Given the description of an element on the screen output the (x, y) to click on. 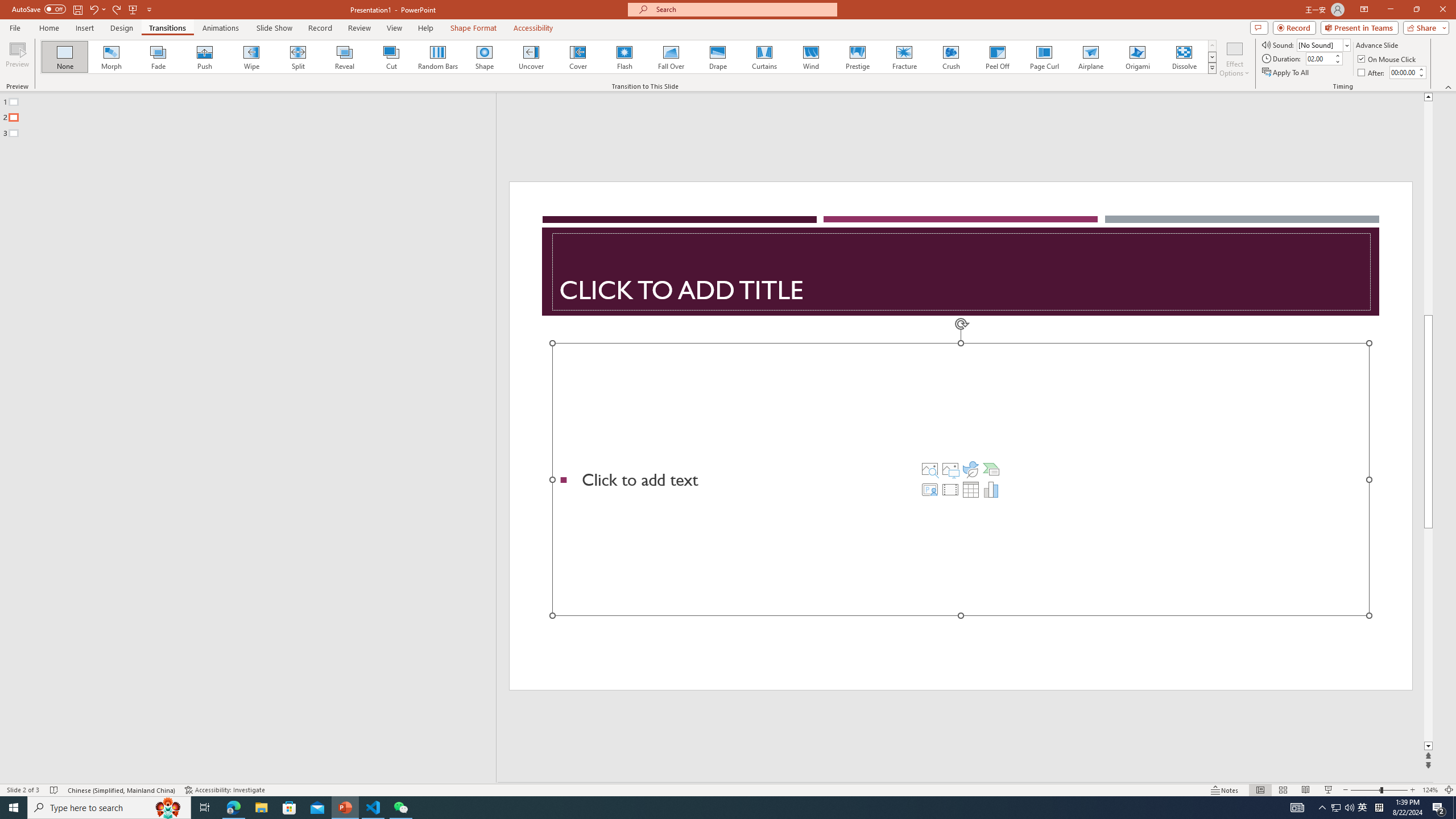
Curtains (764, 56)
Dissolve (1183, 56)
Apply To All (1286, 72)
Fracture (903, 56)
